Given the description of an element on the screen output the (x, y) to click on. 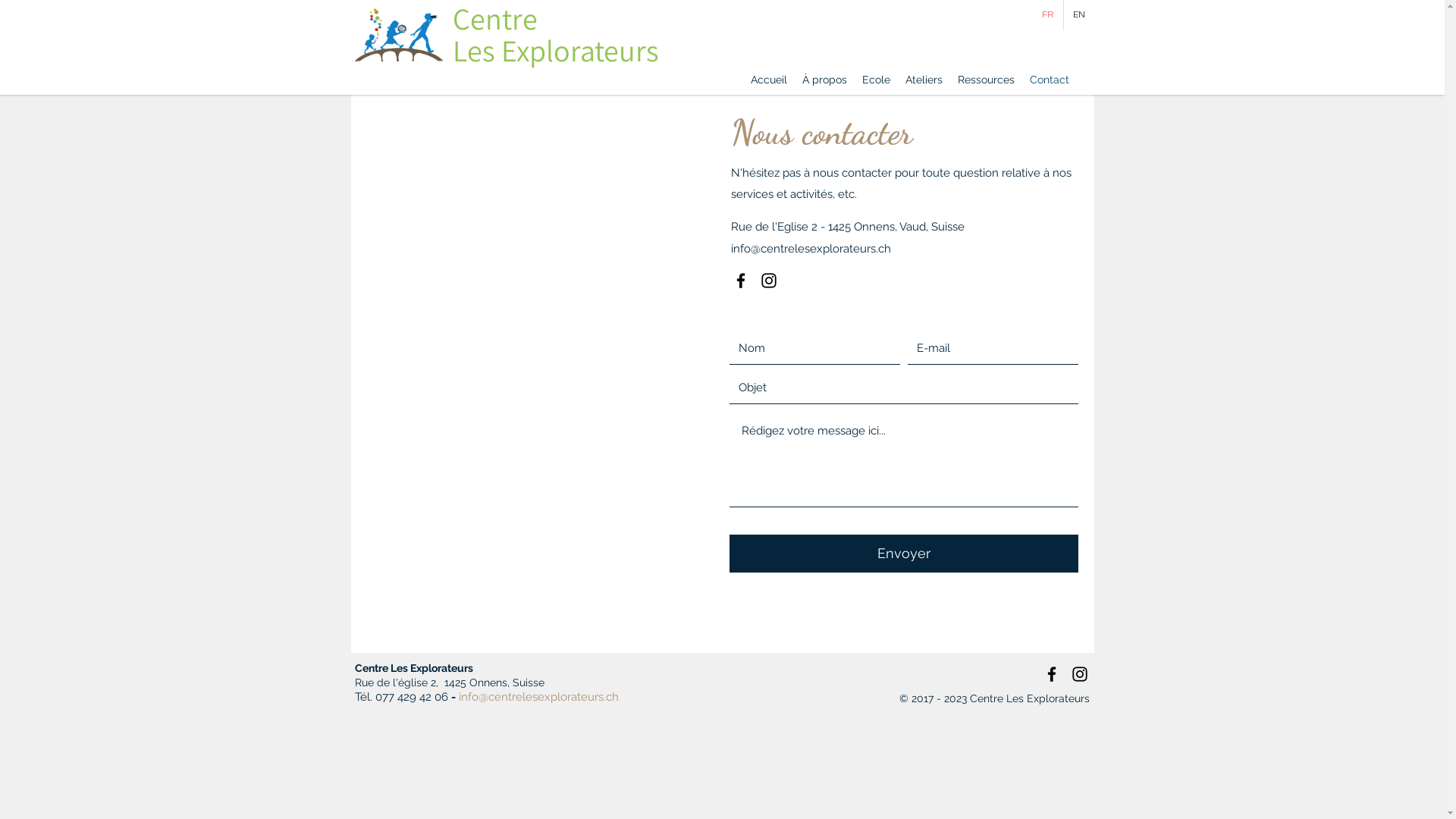
Contact Element type: text (1049, 79)
Accueil Element type: text (768, 79)
info@centrelesexplorateurs.ch Element type: text (538, 696)
EN Element type: text (1078, 15)
Google Maps Element type: hover (547, 373)
Ressources Element type: text (985, 79)
info@centrelesexplorateurs.ch Element type: text (811, 247)
Envoyer Element type: text (903, 553)
Ateliers Element type: text (923, 79)
Ecole Element type: text (875, 79)
FR Element type: text (1047, 15)
